Given the description of an element on the screen output the (x, y) to click on. 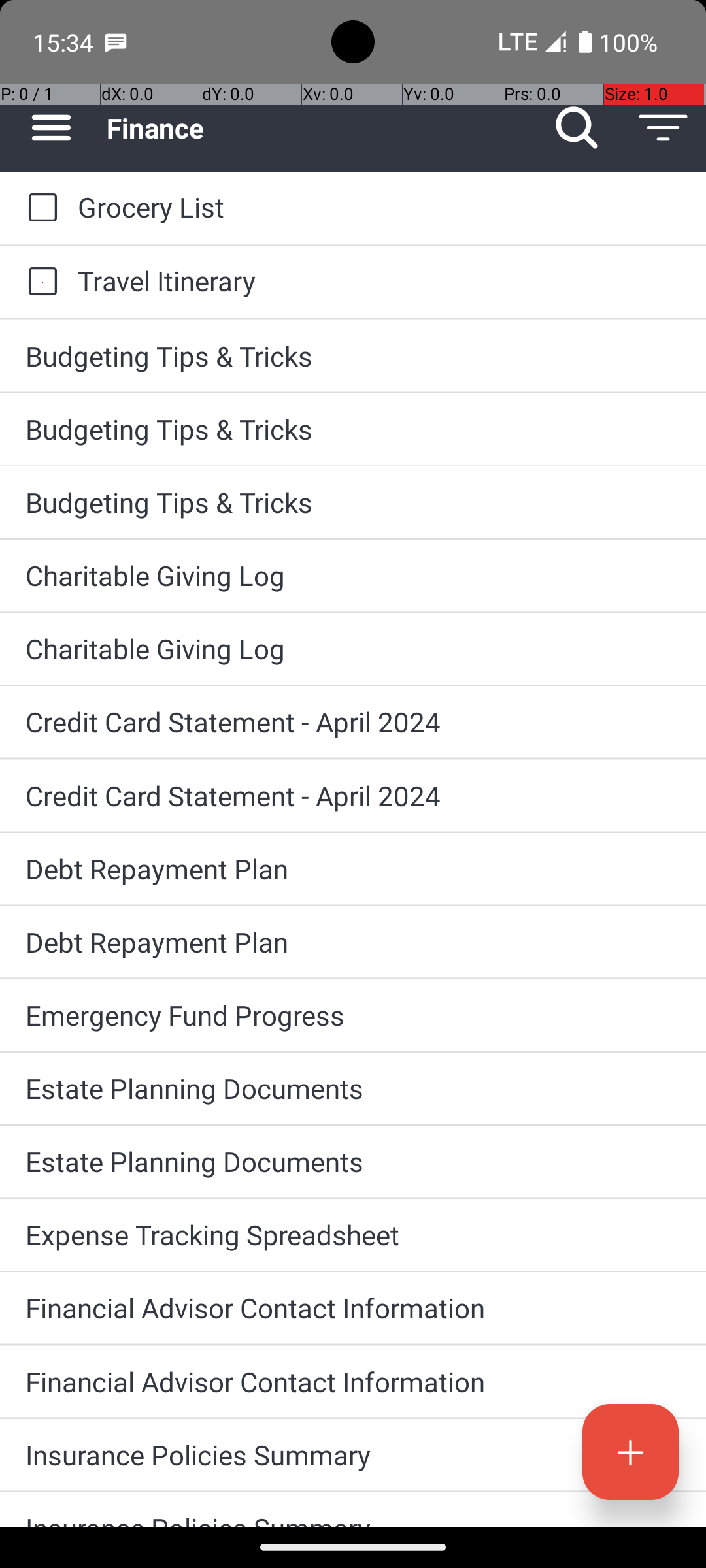
to-do: Grocery List Element type: android.widget.CheckBox (38, 208)
Grocery List Element type: android.widget.TextView (378, 206)
to-do: Travel Itinerary Element type: android.widget.CheckBox (38, 282)
Travel Itinerary Element type: android.widget.TextView (378, 280)
Budgeting Tips & Tricks Element type: android.widget.TextView (352, 355)
Charitable Giving Log Element type: android.widget.TextView (352, 574)
Credit Card Statement - April 2024 Element type: android.widget.TextView (352, 721)
Debt Repayment Plan Element type: android.widget.TextView (352, 868)
Emergency Fund Progress Element type: android.widget.TextView (352, 1014)
Estate Planning Documents Element type: android.widget.TextView (352, 1087)
Expense Tracking Spreadsheet Element type: android.widget.TextView (352, 1234)
Insurance Policies Summary Element type: android.widget.TextView (352, 1454)
